Given the description of an element on the screen output the (x, y) to click on. 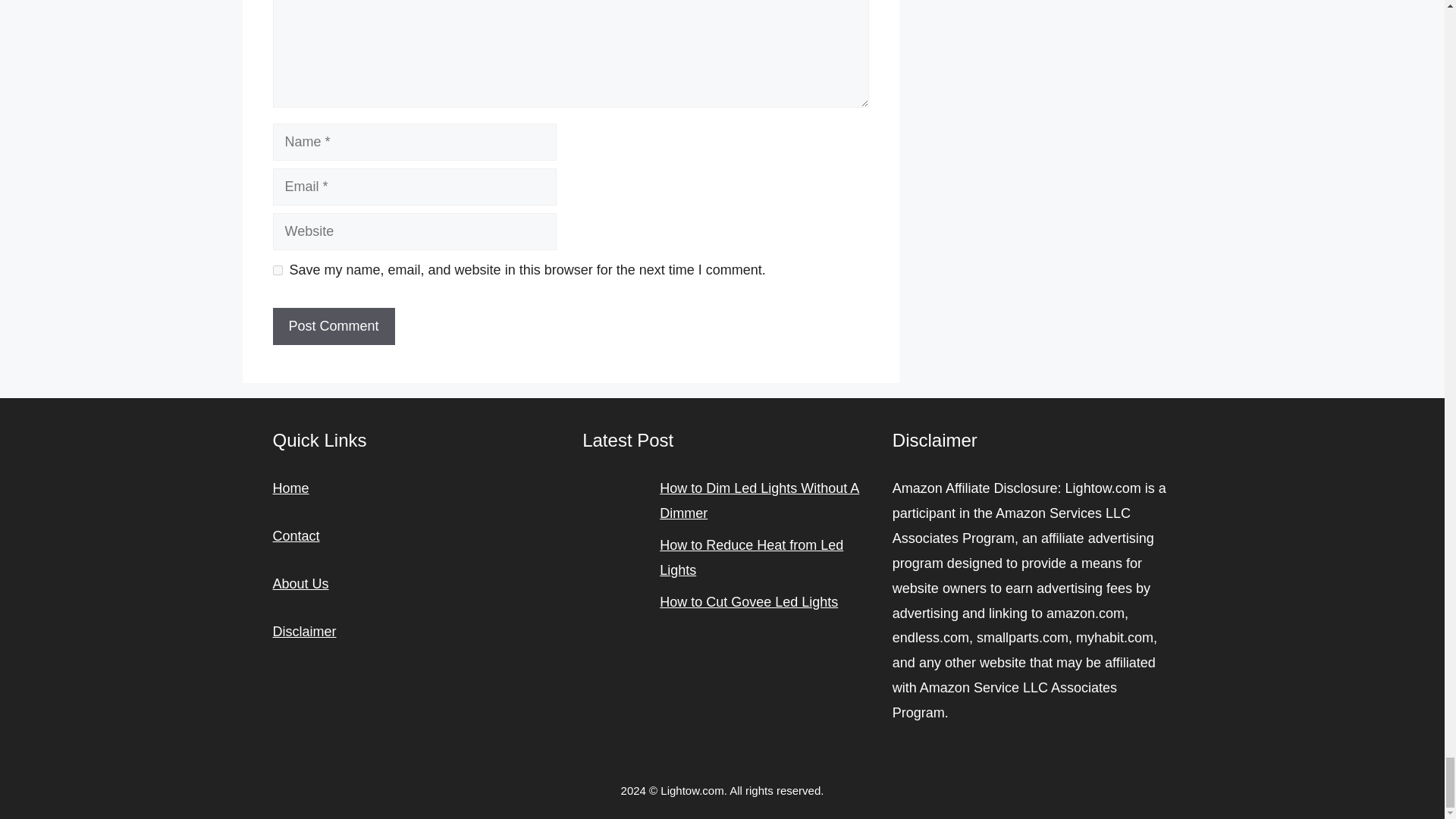
Contact (296, 535)
yes (277, 270)
Home (290, 488)
Post Comment (333, 325)
Post Comment (333, 325)
